Given the description of an element on the screen output the (x, y) to click on. 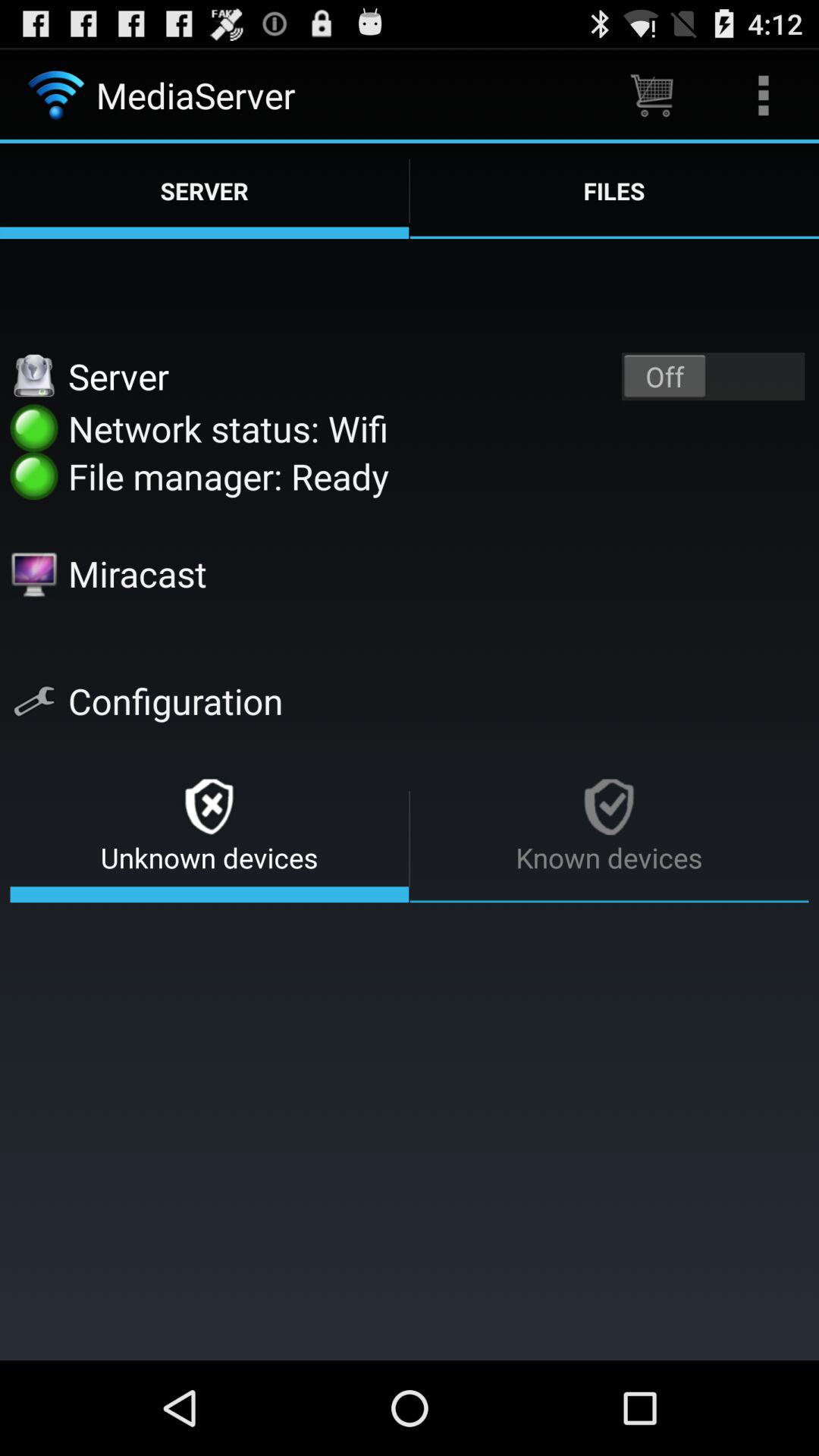
select icon above server (763, 95)
